Given the description of an element on the screen output the (x, y) to click on. 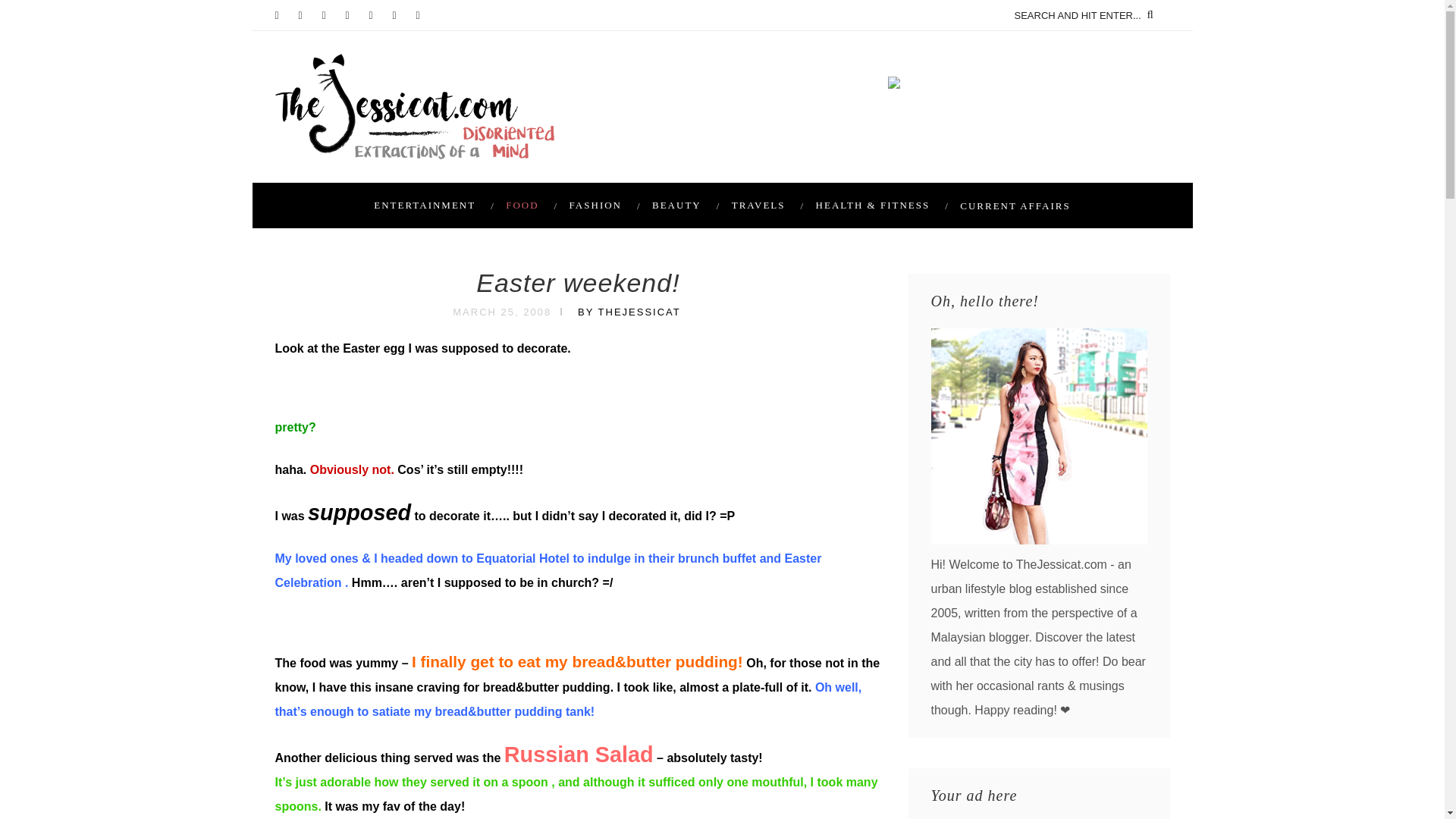
Permanent Link to Easter weekend! (577, 282)
